Given the description of an element on the screen output the (x, y) to click on. 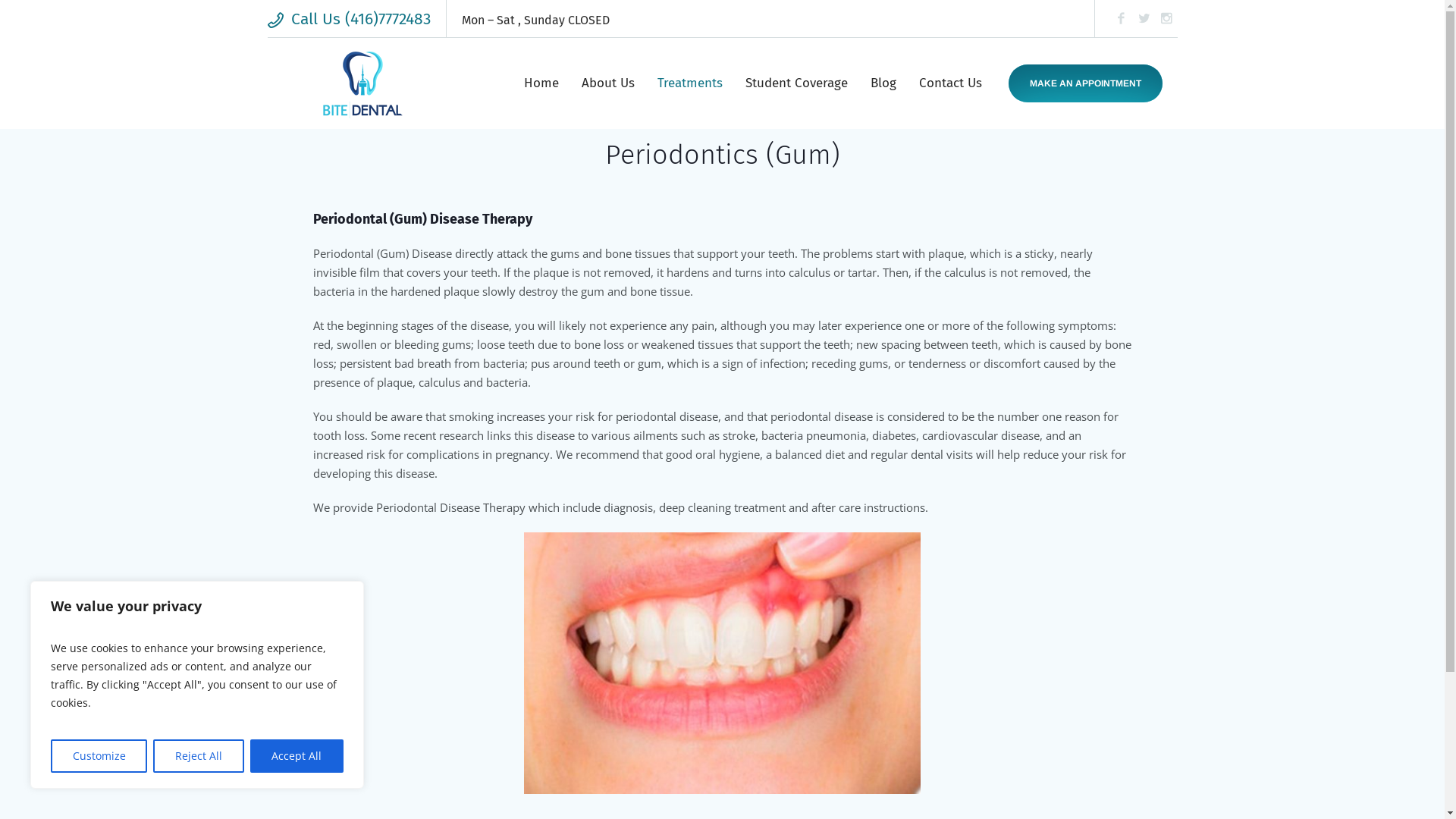
Home Element type: text (541, 83)
Treatments Element type: text (690, 83)
MAKE AN APPOINTMENT Element type: text (1085, 83)
Facebook Element type: hover (1120, 17)
Call Us (416)7772483 Element type: text (348, 18)
Blog Element type: text (882, 83)
About Us Element type: text (608, 83)
Accept All Element type: text (296, 755)
Customize Element type: text (98, 755)
Instagram Element type: hover (1165, 17)
Twitter Element type: hover (1143, 17)
Student Coverage Element type: text (796, 83)
Contact Us Element type: text (949, 83)
Reject All Element type: text (198, 755)
